Given the description of an element on the screen output the (x, y) to click on. 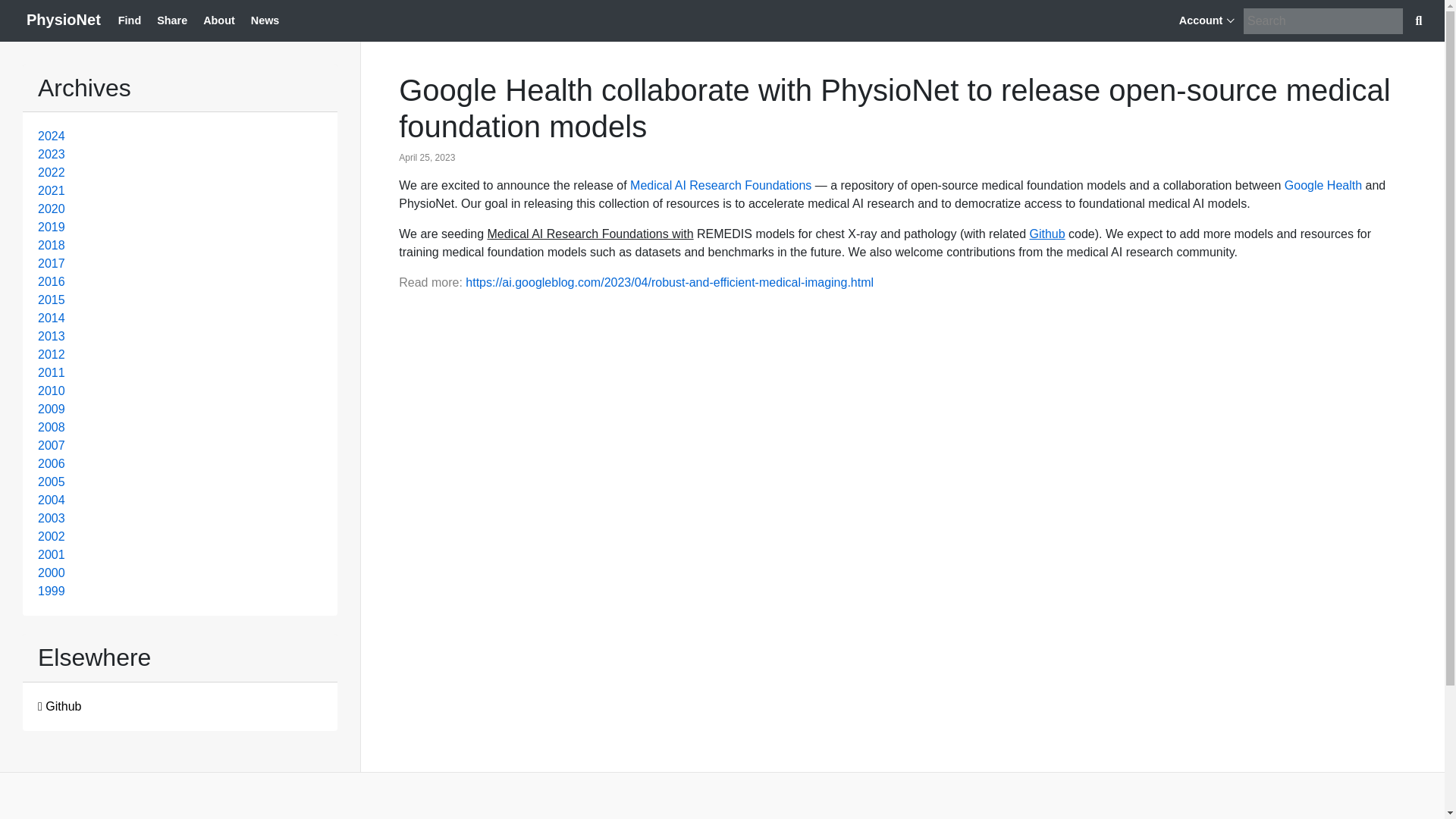
2014 (51, 318)
2019 (51, 226)
Medical AI Research Foundations (720, 185)
2012 (51, 354)
2016 (51, 281)
Github (59, 706)
1999 (51, 590)
2020 (51, 208)
2024 (51, 135)
2011 (51, 372)
Github (1046, 233)
PhysioNet (63, 21)
2023 (51, 154)
Search PhysioNet (1419, 20)
2017 (51, 263)
